Given the description of an element on the screen output the (x, y) to click on. 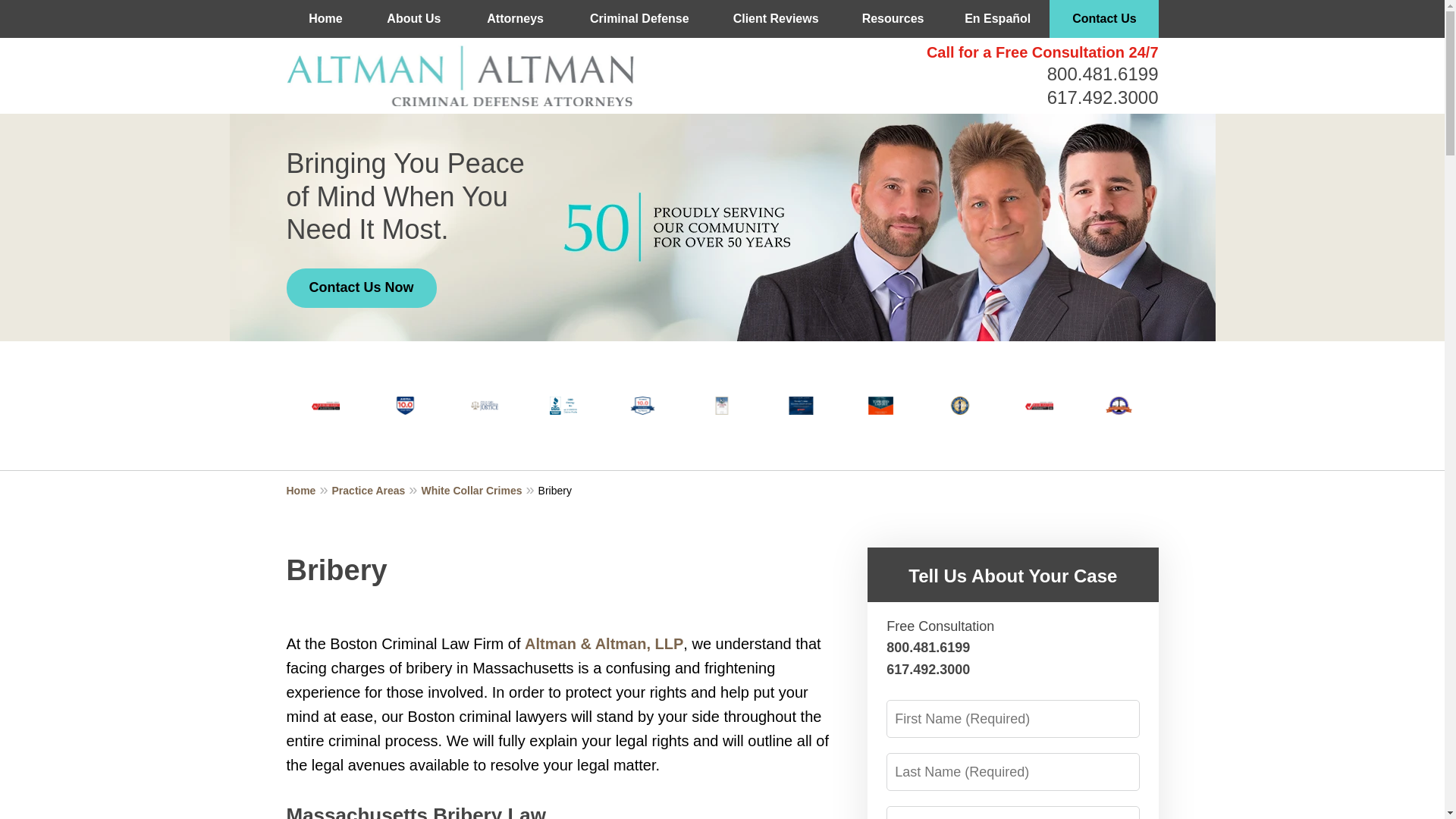
Contact Us Now (361, 287)
800.481.6199 (1102, 73)
Contact Us (1103, 18)
Home (308, 490)
Criminal Defense (639, 18)
Home (325, 18)
White Collar Crimes (478, 490)
About Us (414, 18)
617.492.3000 (1102, 96)
Attorneys (515, 18)
